Given the description of an element on the screen output the (x, y) to click on. 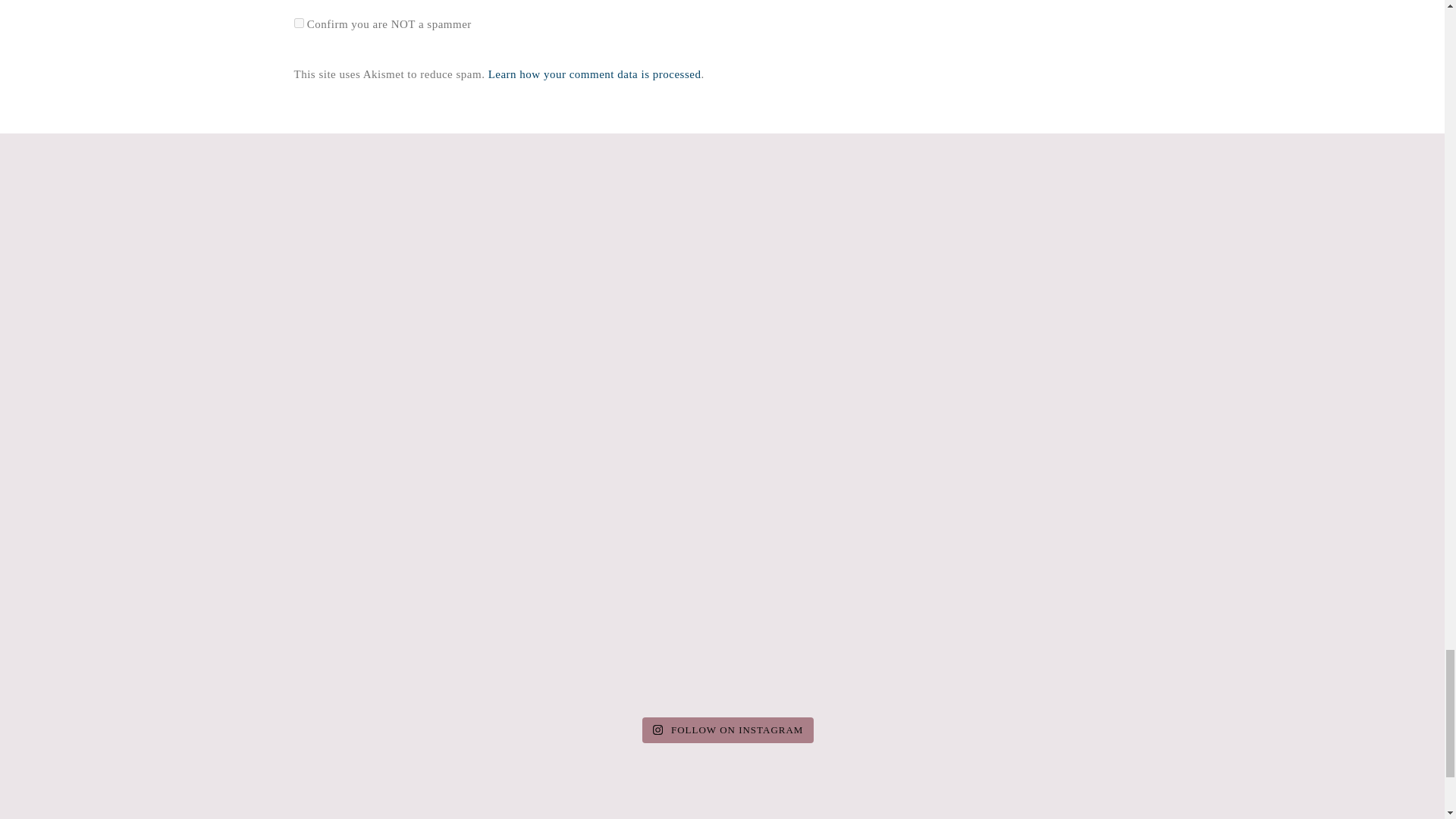
on (299, 22)
